Given the description of an element on the screen output the (x, y) to click on. 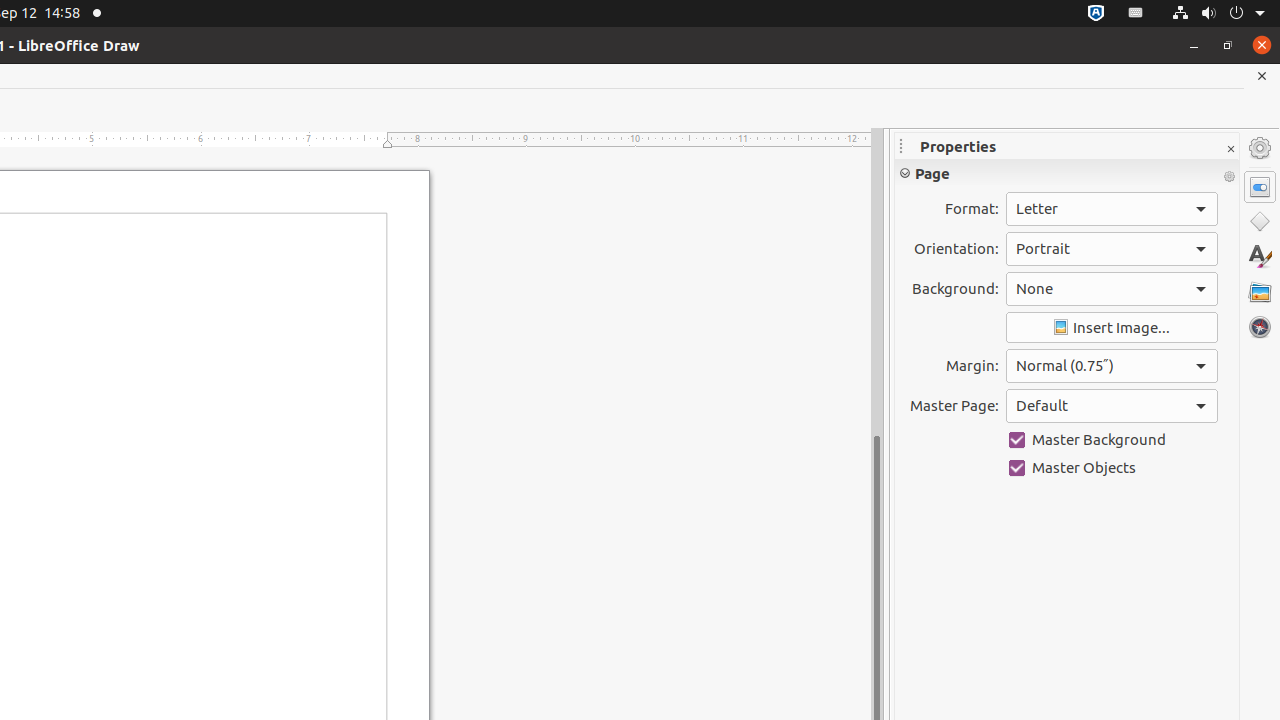
Master Background Element type: check-box (1112, 440)
Insert Image Element type: push-button (1112, 327)
More Options Element type: push-button (1229, 177)
Properties Element type: radio-button (1260, 187)
System Element type: menu (1218, 13)
